Given the description of an element on the screen output the (x, y) to click on. 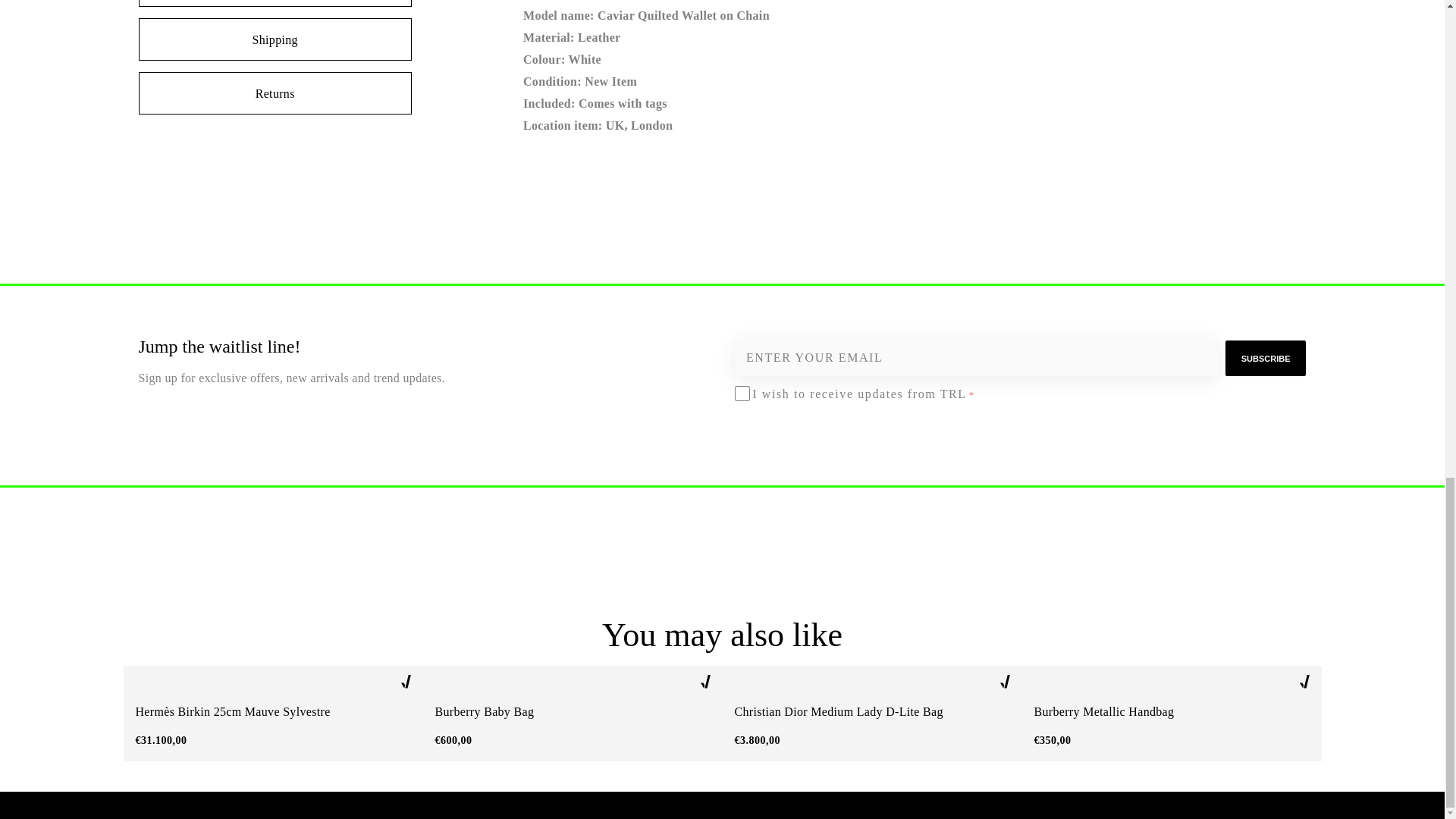
Burberry Baby Bag (572, 712)
Burberry Metallic Handbag (1170, 712)
Christian Dior Medium Lady D-Lite Bag (871, 712)
on (739, 393)
